Given the description of an element on the screen output the (x, y) to click on. 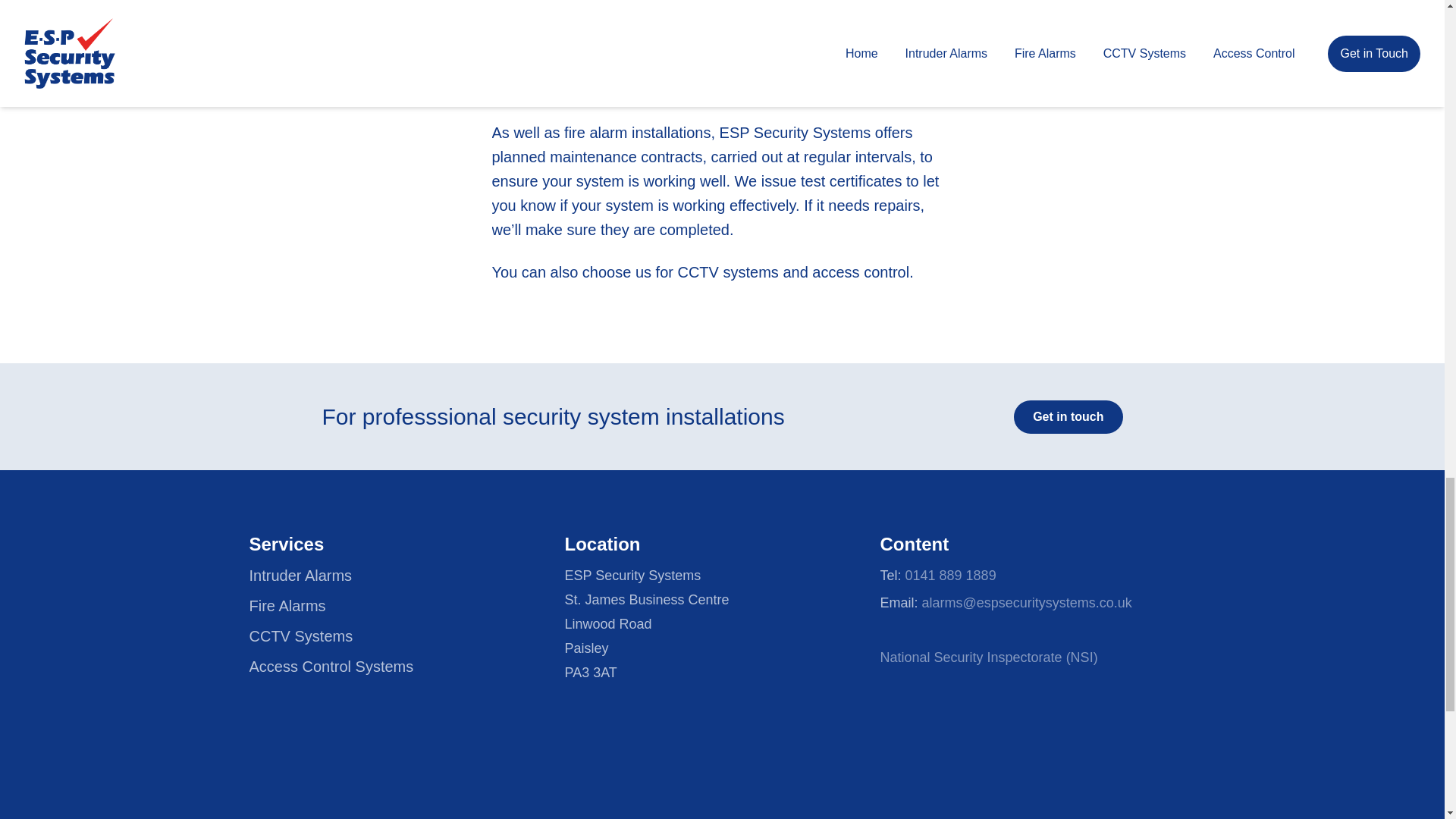
CCTV Systems (300, 636)
Fire Alarms (286, 605)
Get in touch (1067, 416)
0141 889 1889 (950, 575)
CCTV (697, 271)
Get in touch (1067, 417)
access control (860, 271)
Access Control Systems (330, 666)
Intruder Alarms (300, 575)
